Given the description of an element on the screen output the (x, y) to click on. 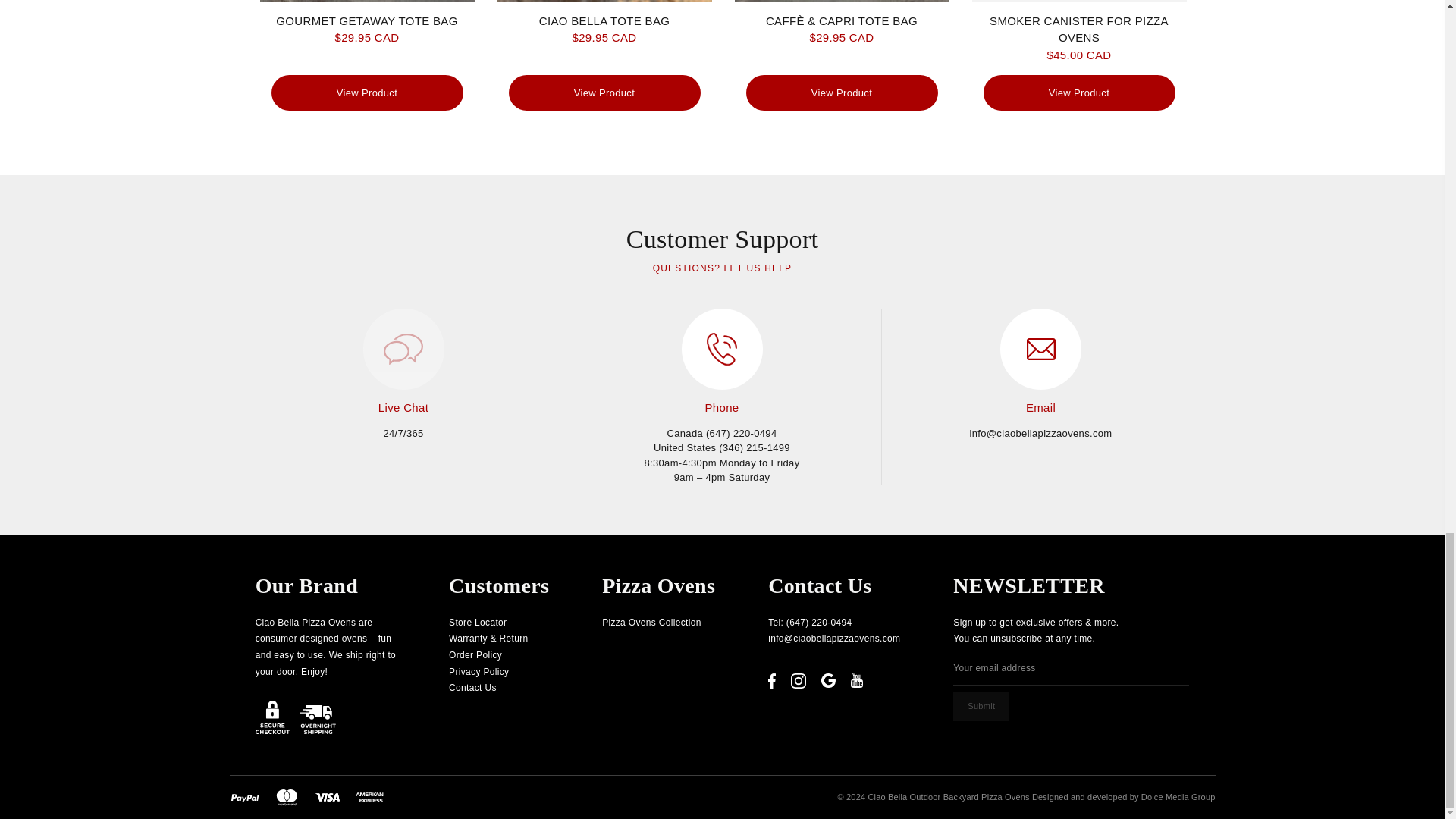
Submit (981, 706)
